Given the description of an element on the screen output the (x, y) to click on. 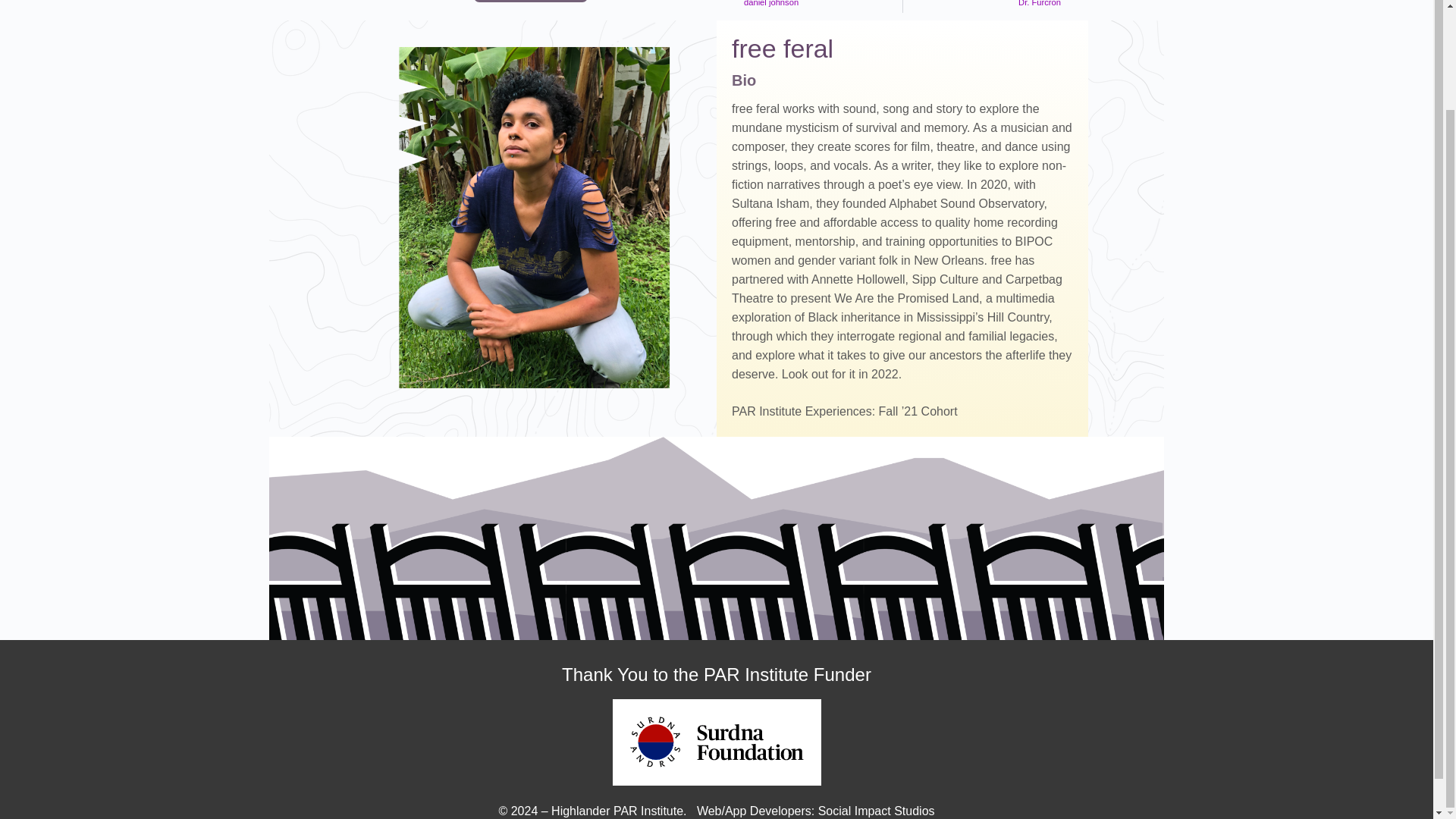
EVERYONE (812, 6)
